Given the description of an element on the screen output the (x, y) to click on. 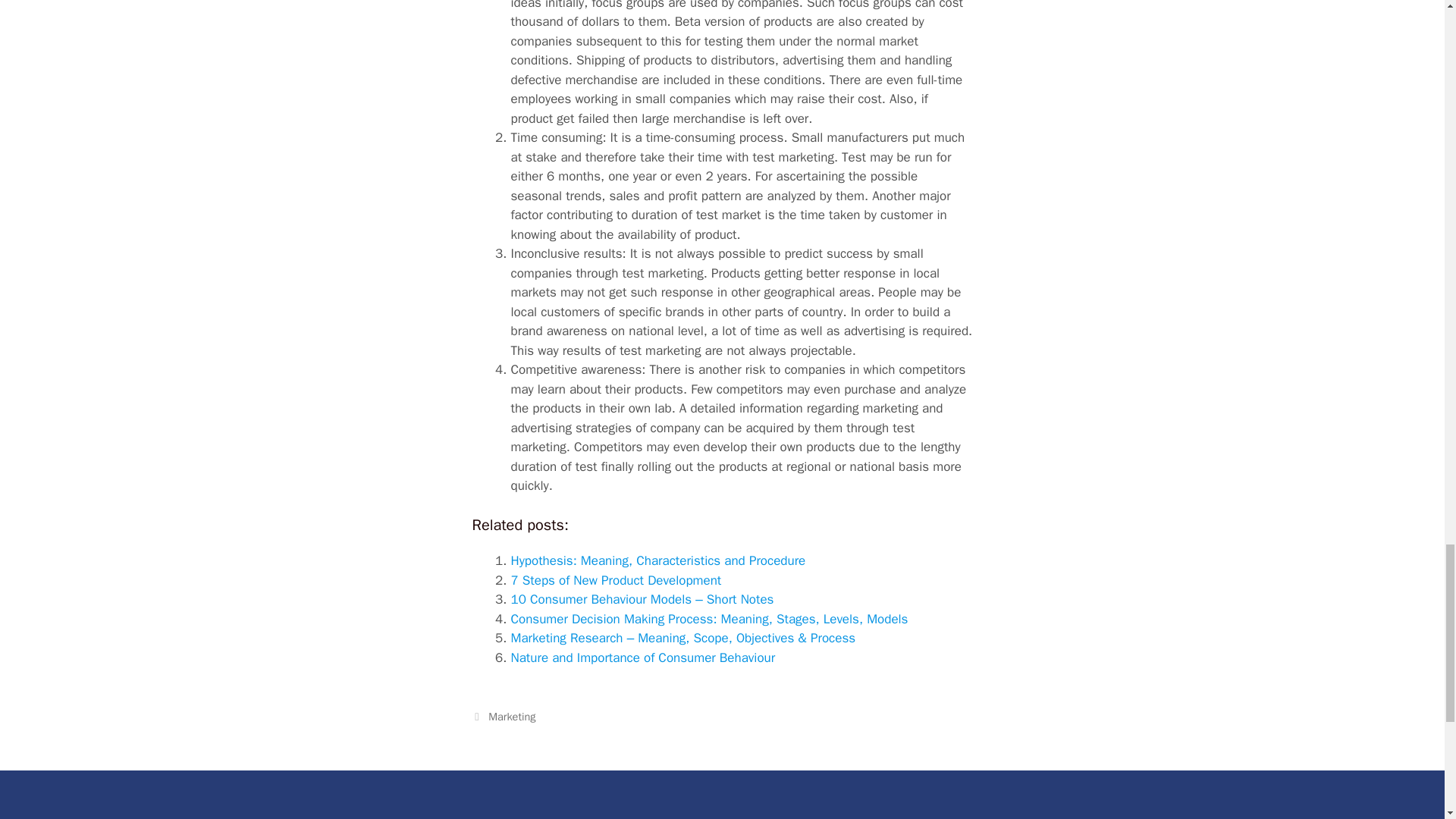
Nature and Importance of Consumer Behaviour (643, 657)
Hypothesis: Meaning, Characteristics and Procedure (658, 560)
7 Steps of New Product Development (616, 580)
